Given the description of an element on the screen output the (x, y) to click on. 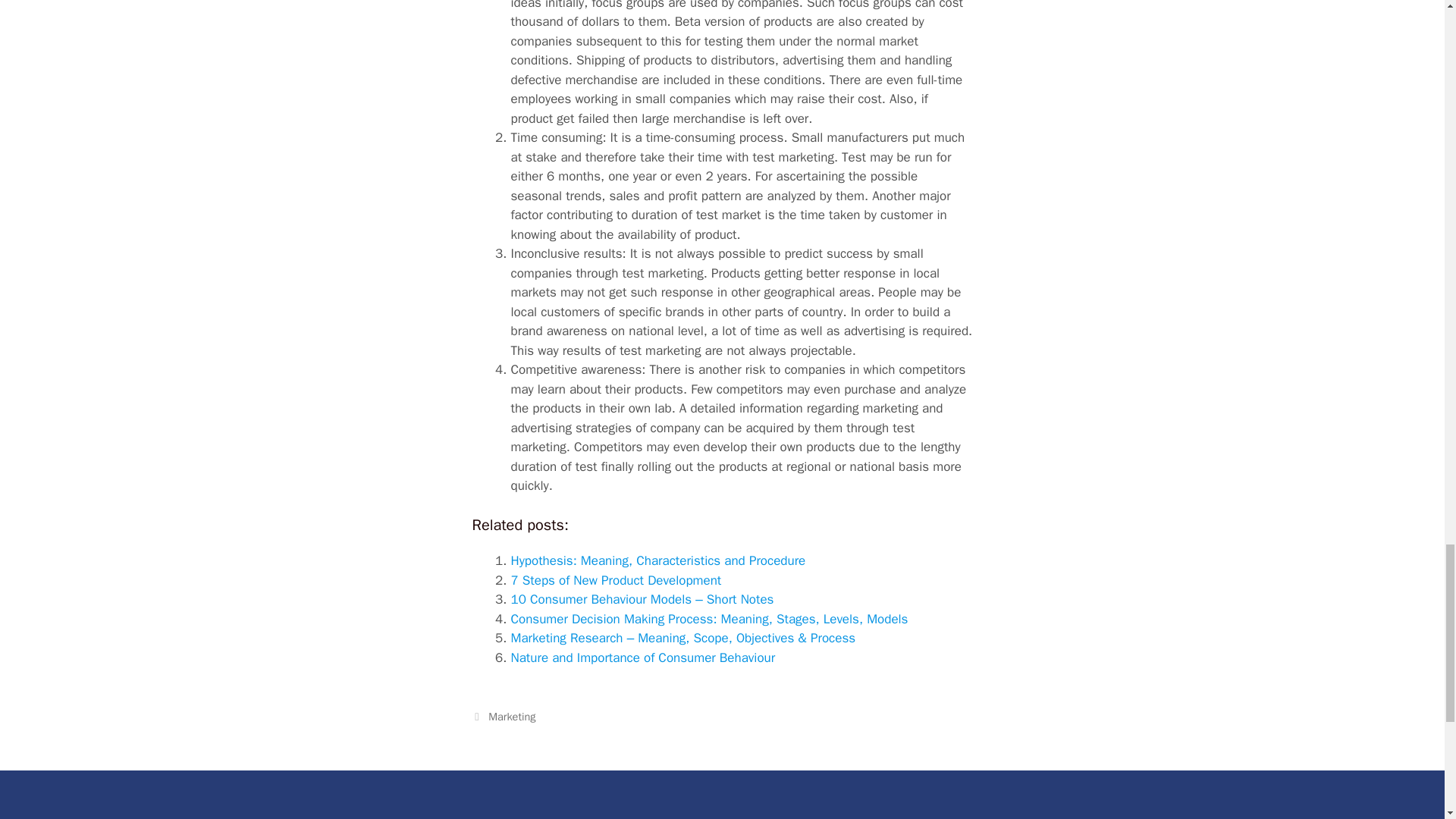
Nature and Importance of Consumer Behaviour (643, 657)
Hypothesis: Meaning, Characteristics and Procedure (658, 560)
7 Steps of New Product Development (616, 580)
